Given the description of an element on the screen output the (x, y) to click on. 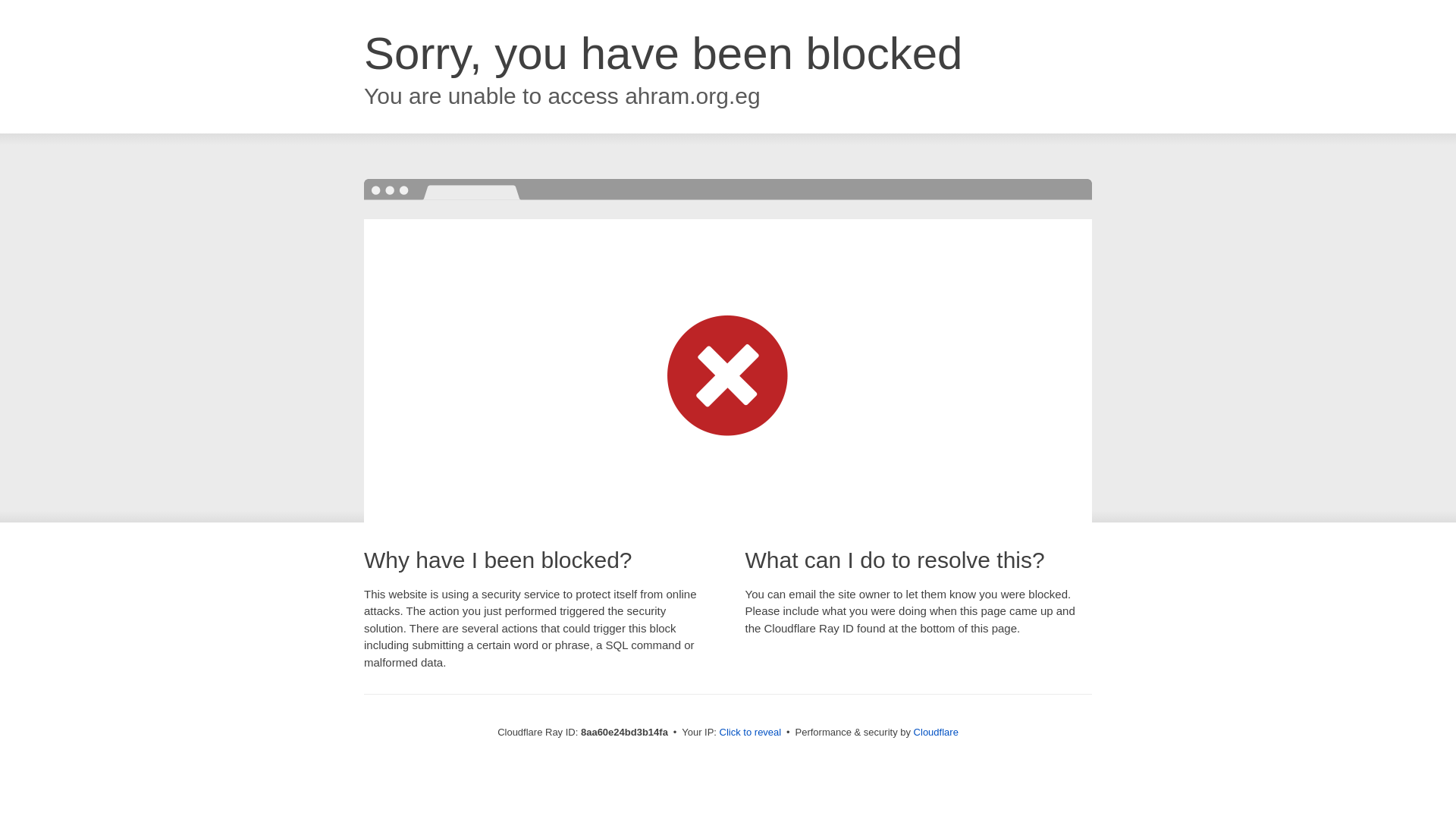
Cloudflare (936, 731)
Click to reveal (750, 732)
